Given the description of an element on the screen output the (x, y) to click on. 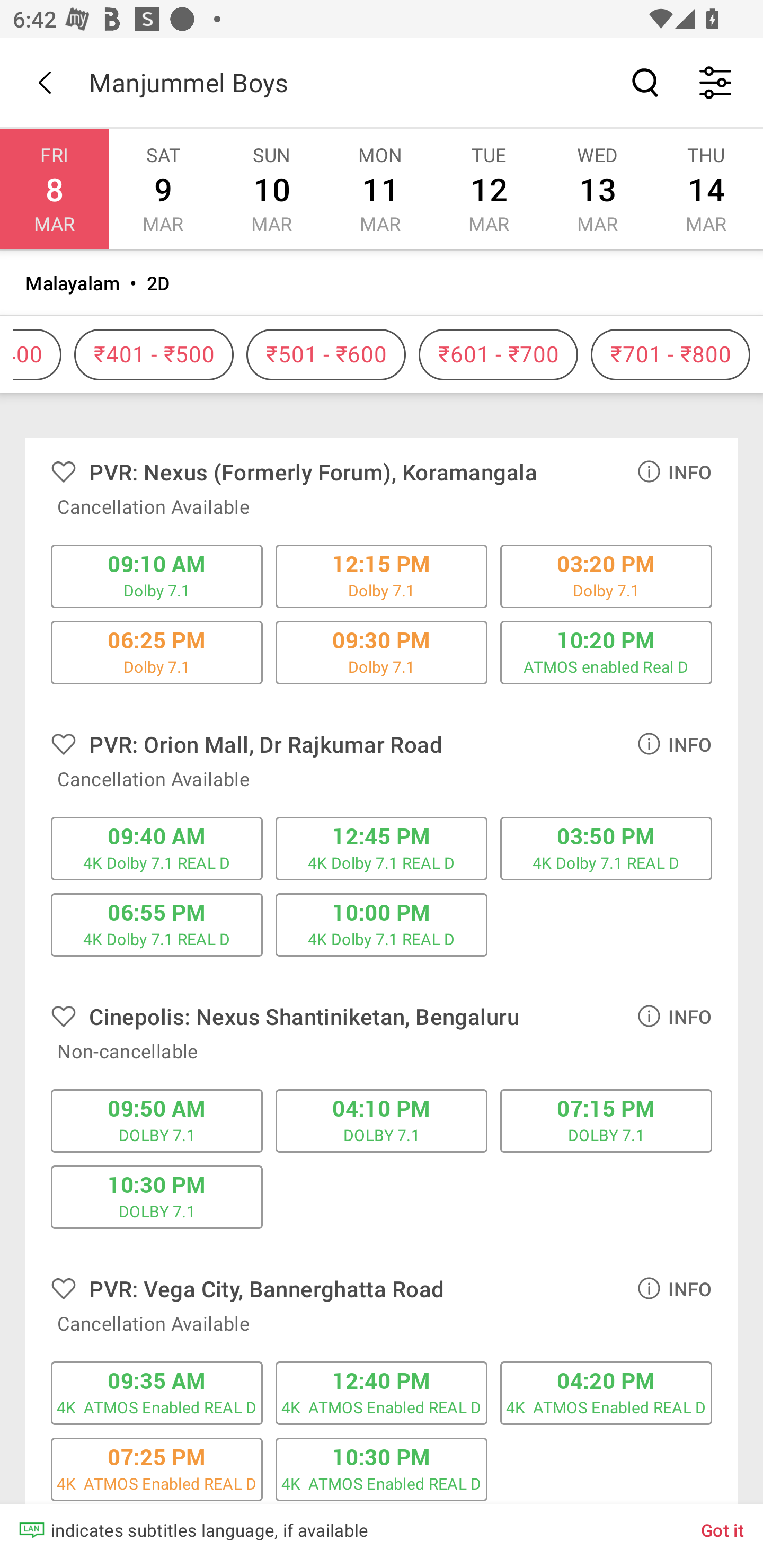
Back Manjummel Boys (381, 82)
Back (44, 82)
SAT 9 MAR (162, 188)
SUN 10 MAR (271, 188)
MON 11 MAR (379, 188)
TUE 12 MAR (488, 188)
WED 13 MAR (597, 188)
THU 14 MAR (705, 188)
Malayalam  •  2D (381, 282)
₹401 - ₹500 (153, 355)
₹501 - ₹600 (325, 355)
₹601 - ₹700 (498, 355)
₹701 - ₹800 (670, 355)
INFO (673, 471)
09:10 AM Dolby 7.1 (156, 576)
12:15 PM Dolby 7.1 (381, 576)
03:20 PM Dolby 7.1 (605, 576)
06:25 PM Dolby 7.1 (156, 651)
09:30 PM Dolby 7.1 (381, 651)
10:20 PM ATMOS enabled Real D (605, 651)
INFO (673, 742)
09:40 AM 4K Dolby 7.1 REAL D (156, 847)
12:45 PM 4K Dolby 7.1 REAL D (381, 847)
03:50 PM 4K Dolby 7.1 REAL D (605, 847)
06:55 PM 4K Dolby 7.1 REAL D (156, 924)
10:00 PM 4K Dolby 7.1 REAL D (381, 924)
INFO (673, 1015)
09:50 AM DOLBY 7.1 (156, 1120)
04:10 PM DOLBY 7.1 (381, 1120)
07:15 PM DOLBY 7.1 (605, 1120)
10:30 PM DOLBY 7.1 (156, 1197)
INFO (673, 1288)
09:35 AM 4K  ATMOS Enabled REAL D (156, 1393)
12:40 PM 4K  ATMOS Enabled REAL D (381, 1393)
04:20 PM 4K  ATMOS Enabled REAL D (605, 1393)
07:25 PM 4K  ATMOS Enabled REAL D (156, 1468)
10:30 PM 4K  ATMOS Enabled REAL D (381, 1468)
Got it (722, 1529)
